Given the description of an element on the screen output the (x, y) to click on. 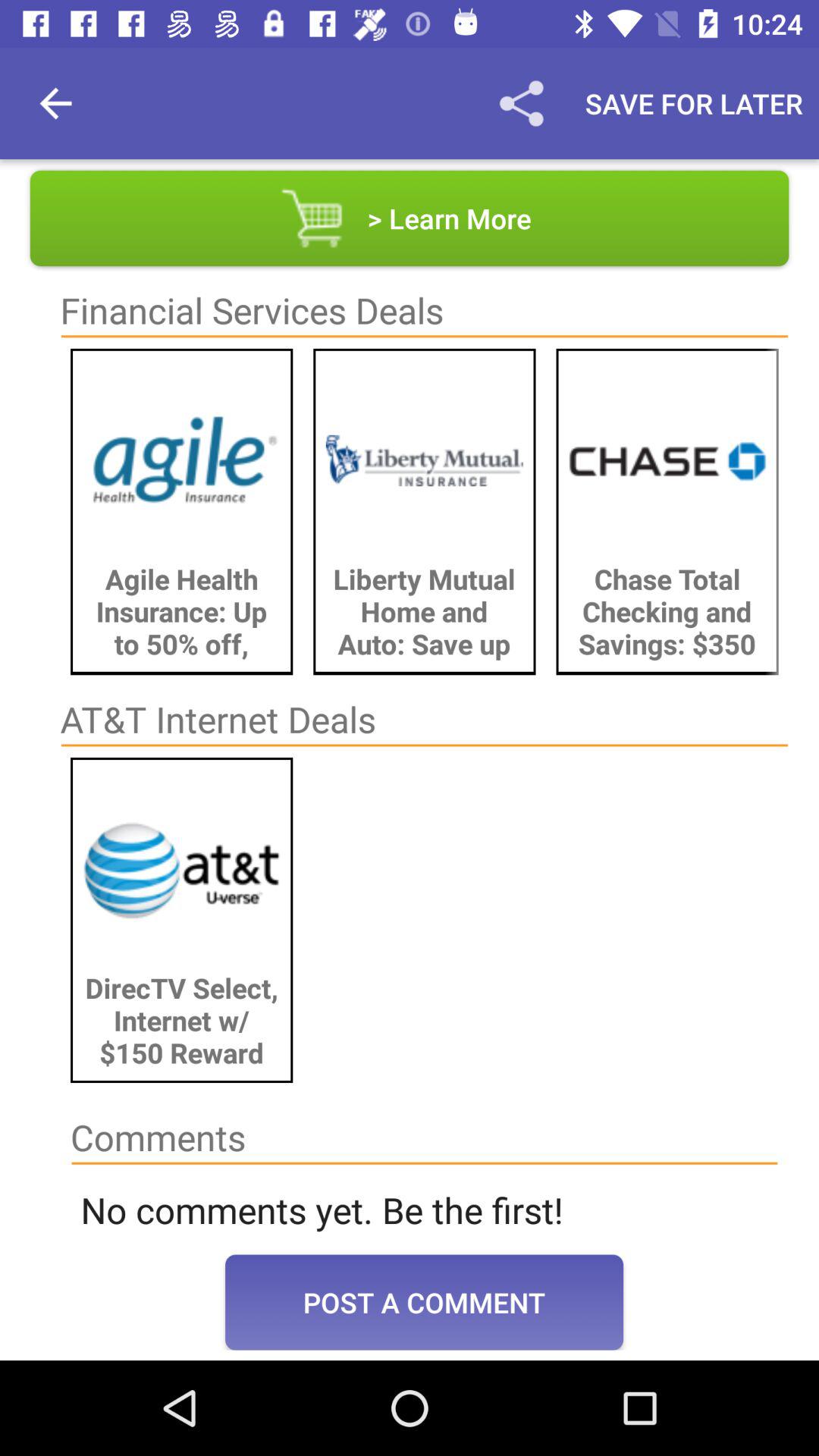
flip until > learn more item (409, 218)
